Given the description of an element on the screen output the (x, y) to click on. 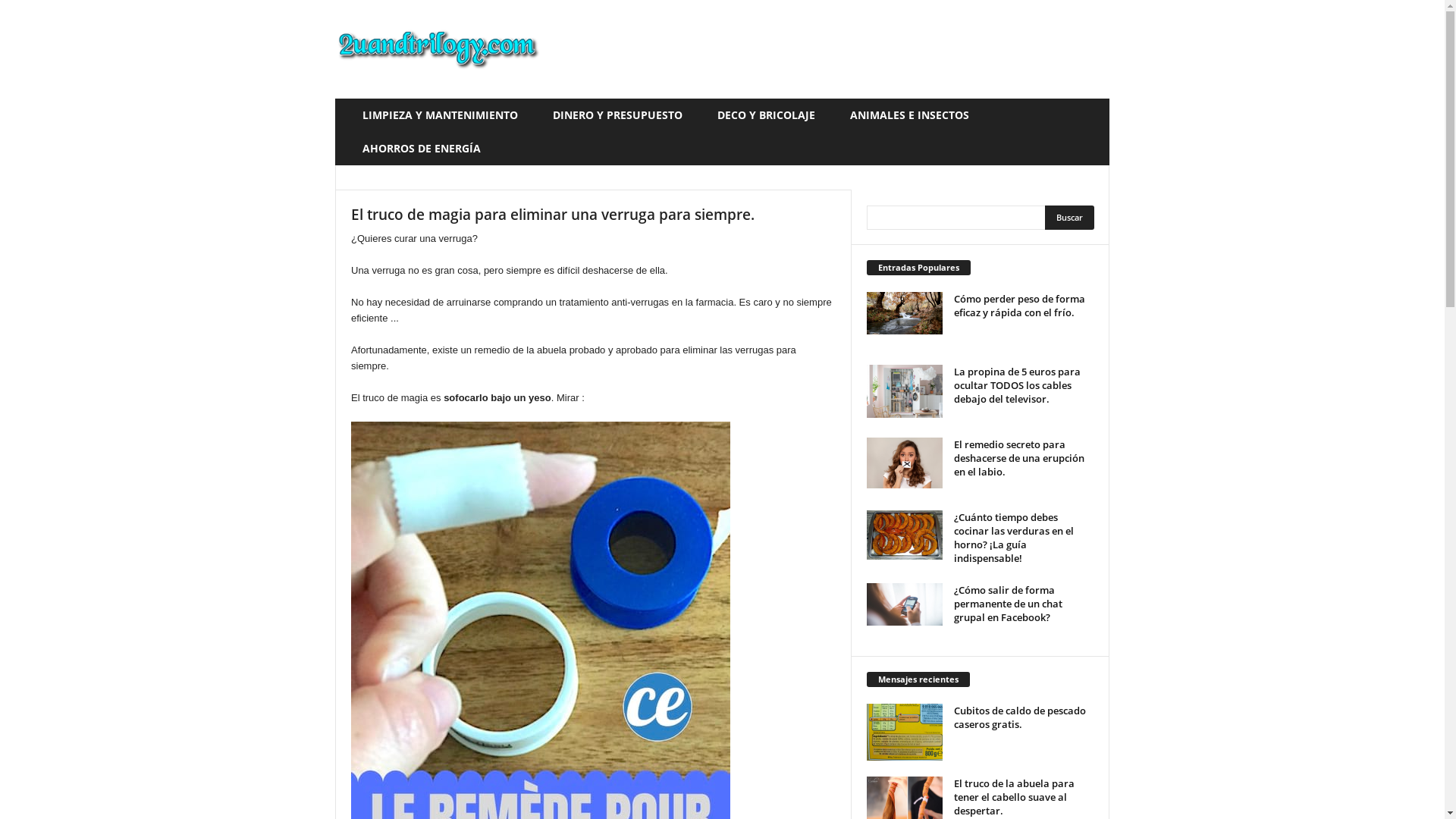
DINERO Y PRESUPUESTO Element type: text (623, 114)
2uandtrilogy.com Element type: text (438, 49)
LIMPIEZA Y MANTENIMIENTO Element type: text (446, 114)
ANIMALES E INSECTOS Element type: text (915, 114)
Cubitos de caldo de pescado caseros gratis. Element type: text (1019, 717)
Buscar Element type: text (1069, 217)
DECO Y BRICOLAJE Element type: text (772, 114)
